Given the description of an element on the screen output the (x, y) to click on. 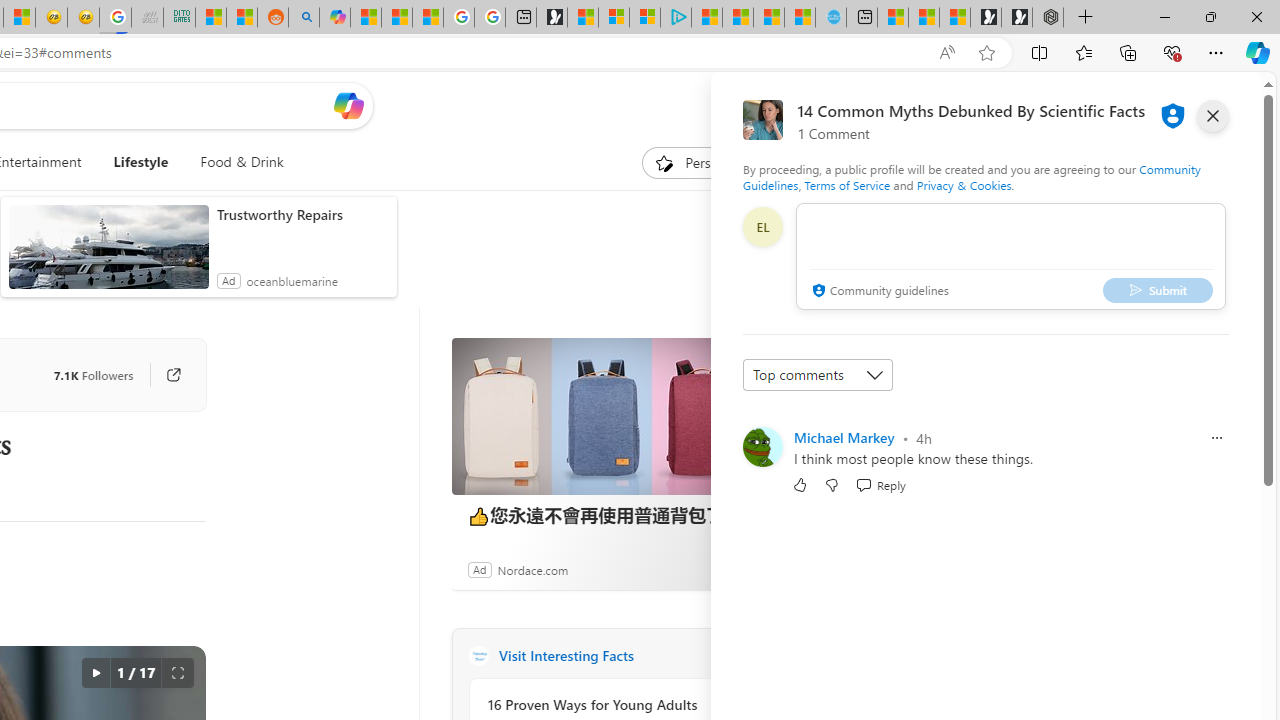
autorotate button (95, 673)
Microsoft Copilot in Bing (334, 17)
Michael Markey (843, 437)
oceanbluemarine (291, 280)
